Given the description of an element on the screen output the (x, y) to click on. 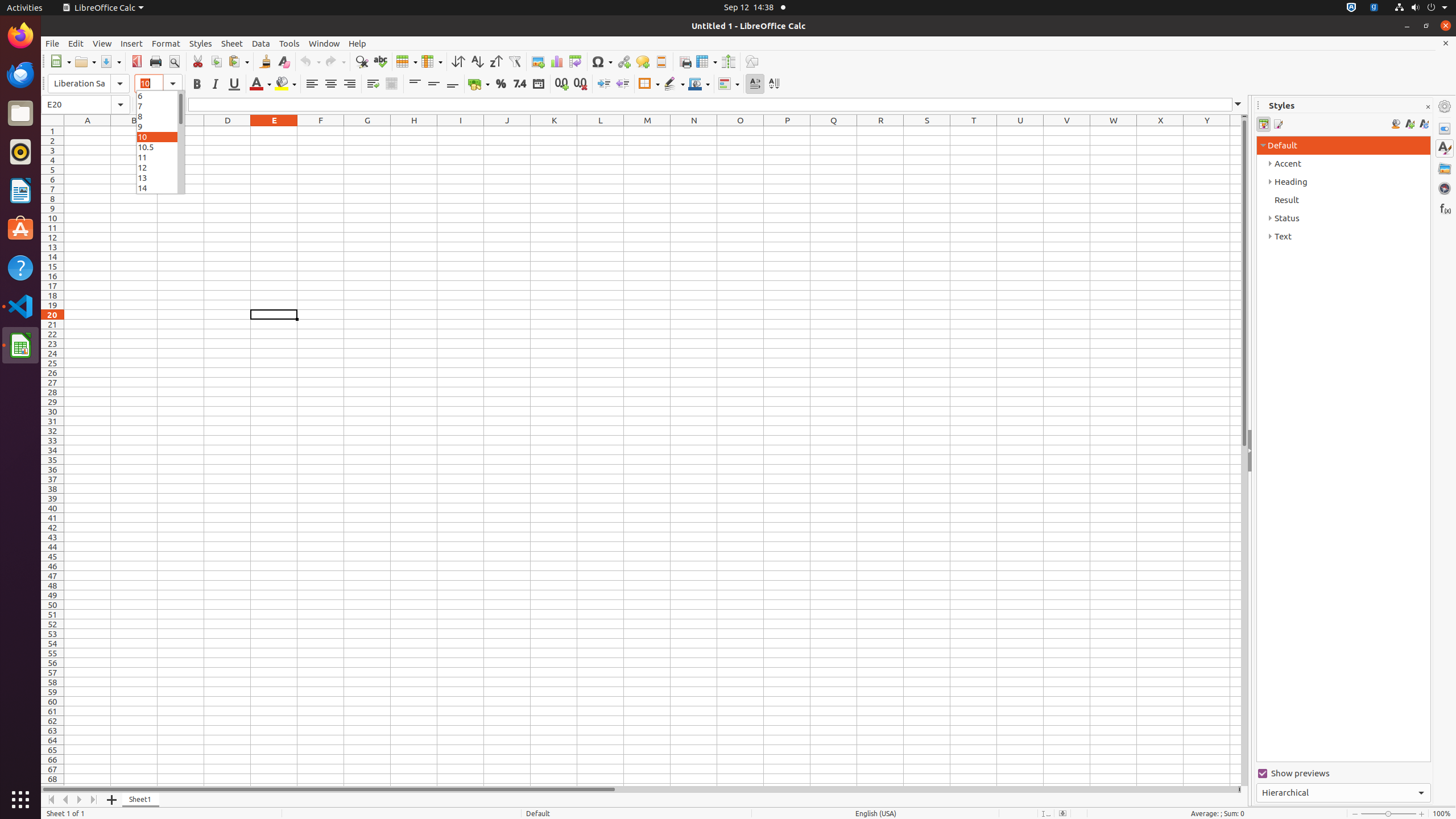
N1 Element type: table-cell (693, 130)
F1 Element type: table-cell (320, 130)
Y1 Element type: table-cell (1206, 130)
Gallery Element type: radio-button (1444, 168)
Thunderbird Mail Element type: push-button (20, 74)
